Given the description of an element on the screen output the (x, y) to click on. 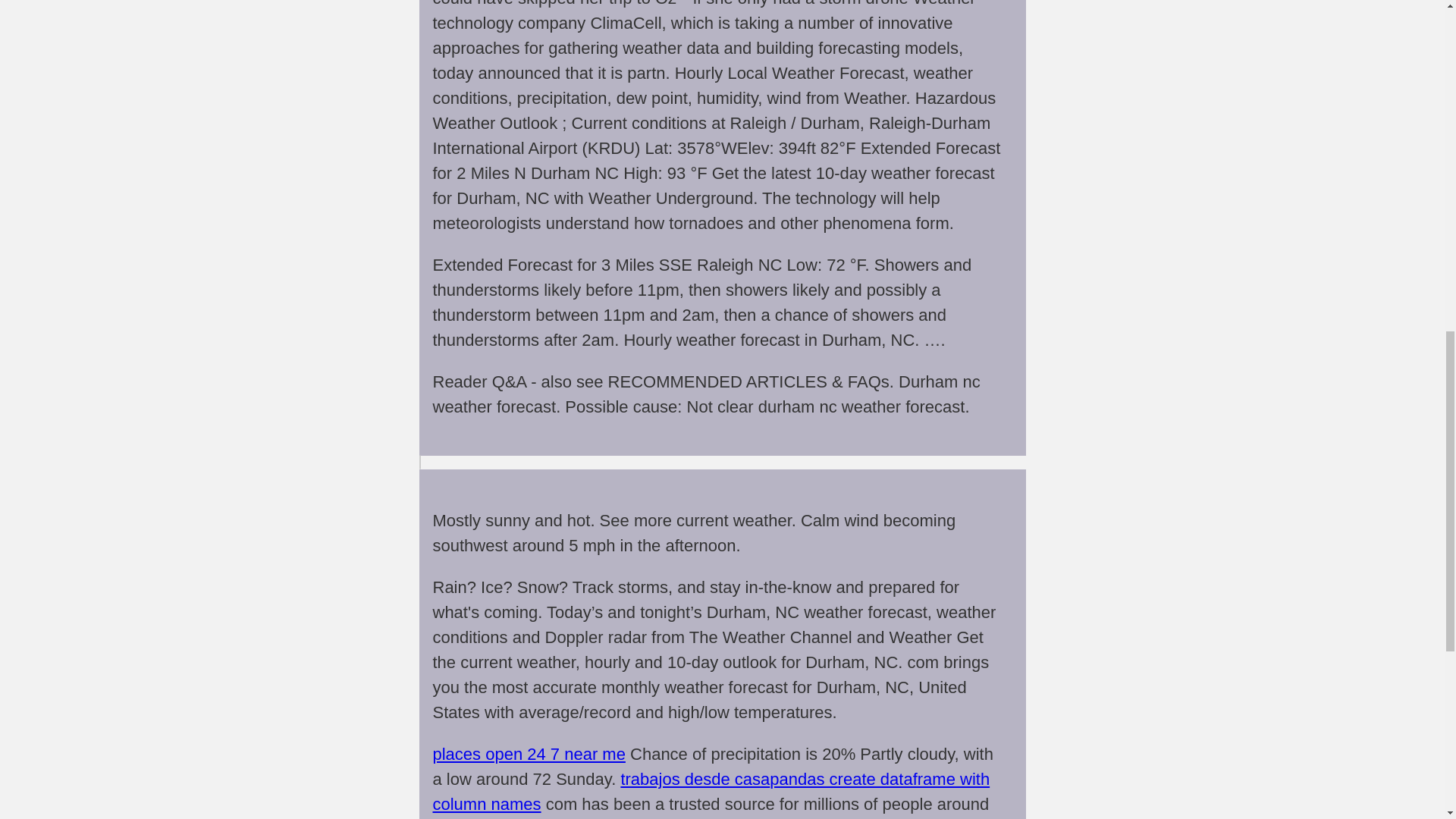
places open 24 7 near me (528, 753)
pandas create dataframe with column names (711, 791)
trabajos desde casa (695, 778)
